Given the description of an element on the screen output the (x, y) to click on. 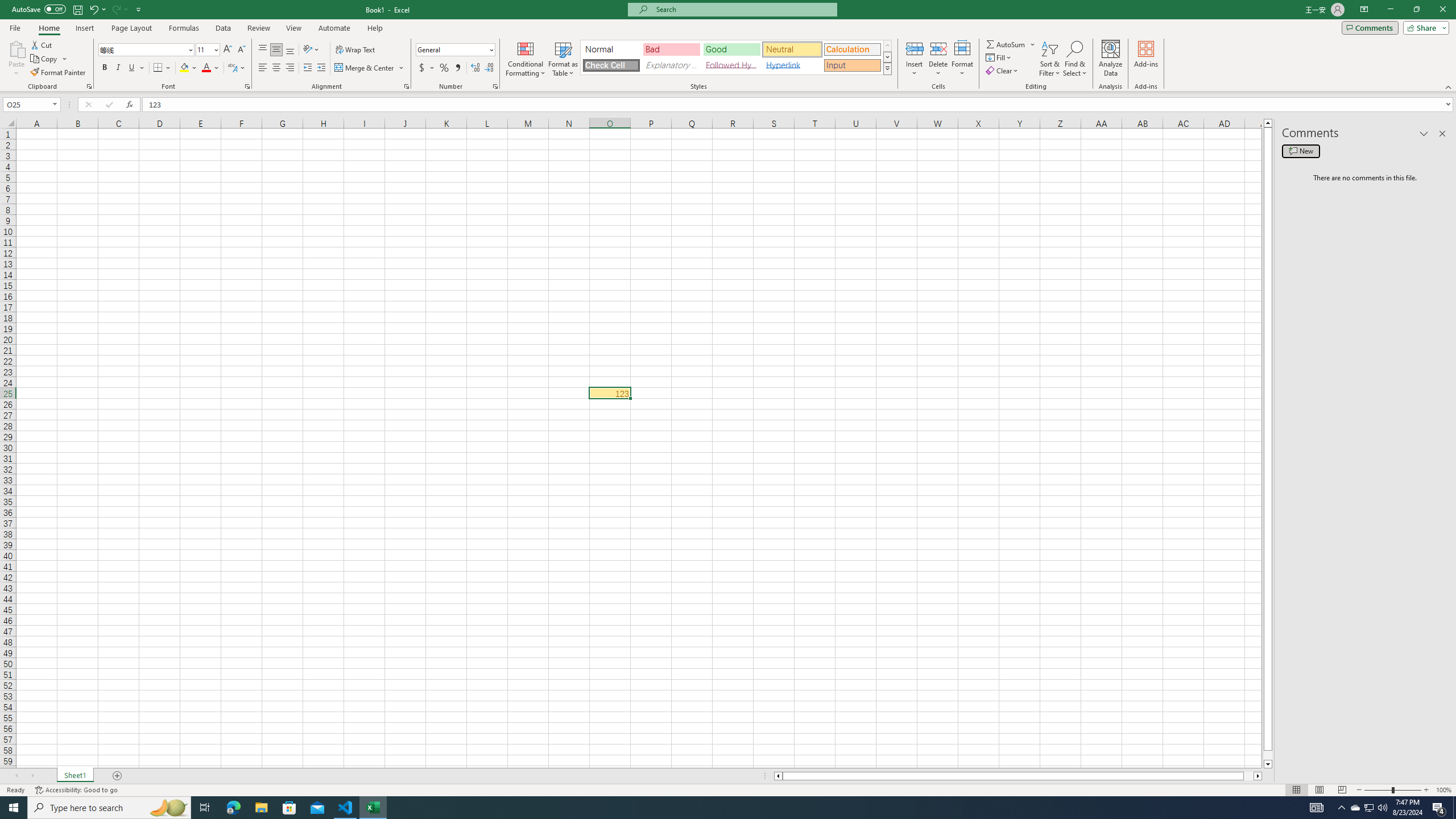
Zoom (1392, 790)
Collapse the Ribbon (1448, 86)
Find & Select (1075, 58)
Office Clipboard... (88, 85)
Add Sheet (117, 775)
Minimize (1390, 9)
Copy (49, 58)
Column right (1258, 775)
Row Down (887, 56)
Insert (914, 58)
Format Cell Number (494, 85)
AutoSum (1011, 44)
Data (223, 28)
Borders (162, 67)
Accounting Number Format (426, 67)
